Given the description of an element on the screen output the (x, y) to click on. 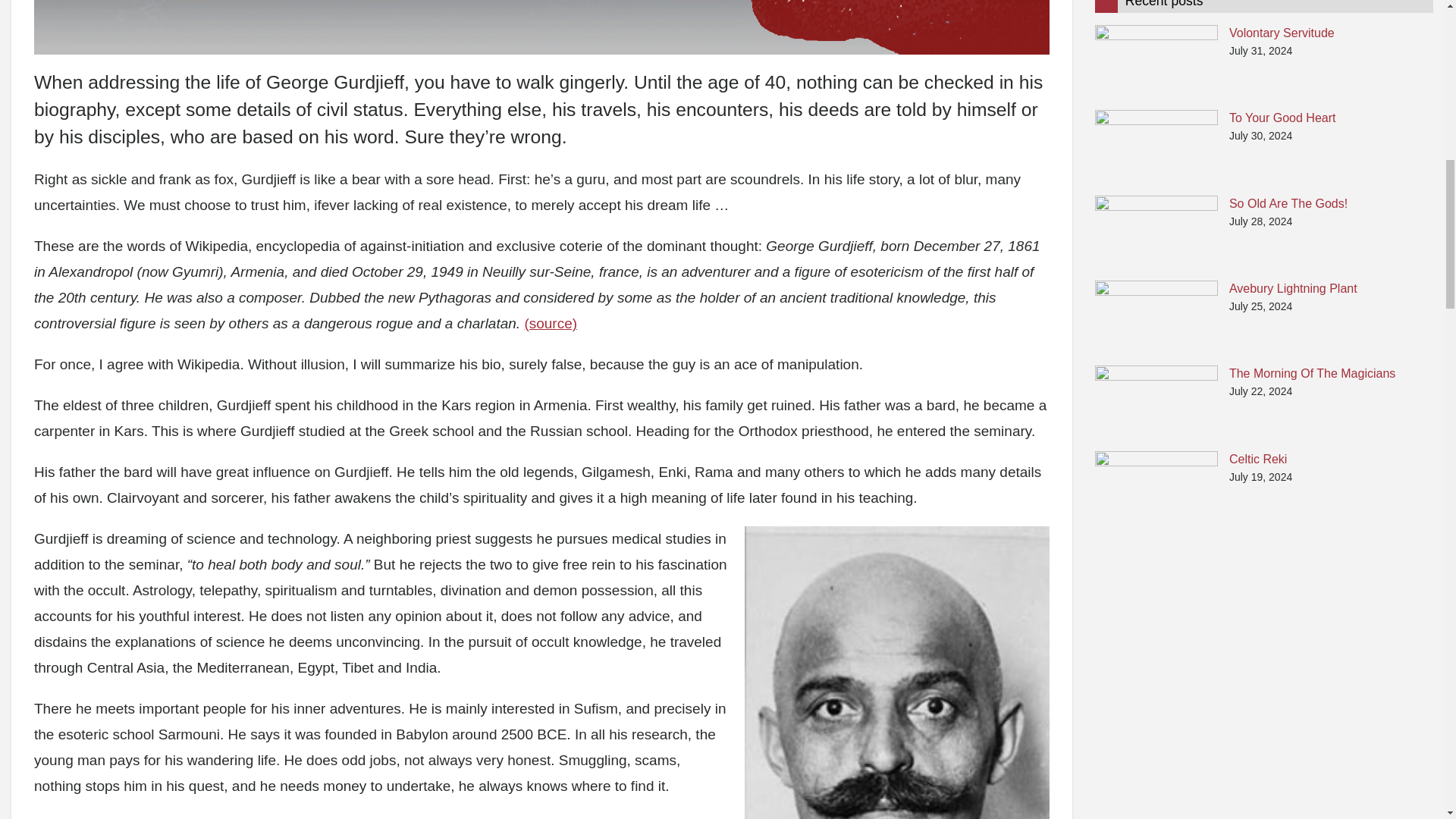
Avebury Lightning Plant (1155, 316)
So Old Are The Gods! (1155, 230)
To Your Good Heart (1155, 145)
Volontary Servitude (1155, 60)
